Given the description of an element on the screen output the (x, y) to click on. 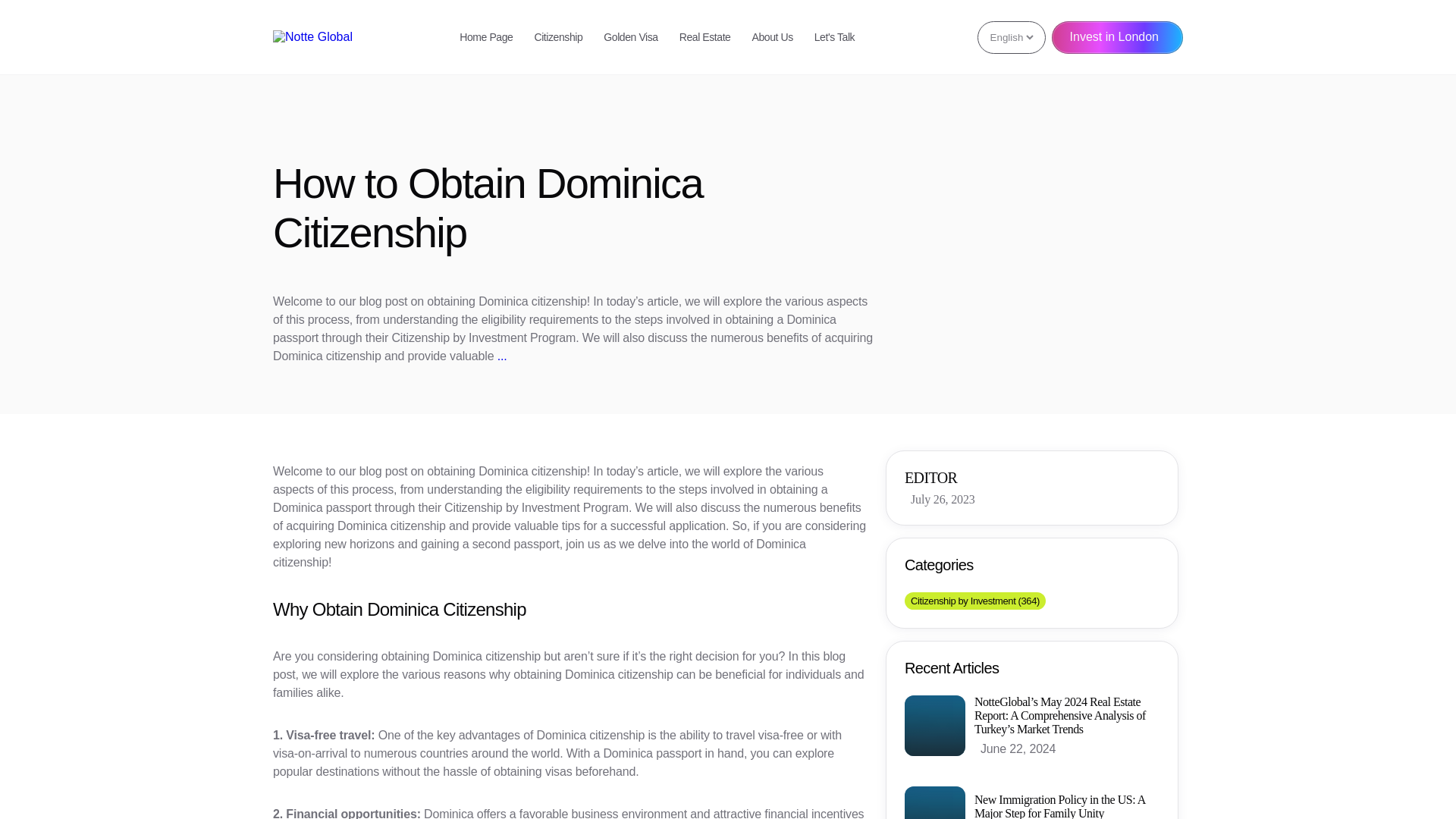
Golden Visa (631, 37)
Real Estate (704, 37)
Let's Talk (833, 37)
Home Page (486, 37)
Invest in London (1116, 37)
Citizenship (558, 37)
About Us (772, 37)
